Given the description of an element on the screen output the (x, y) to click on. 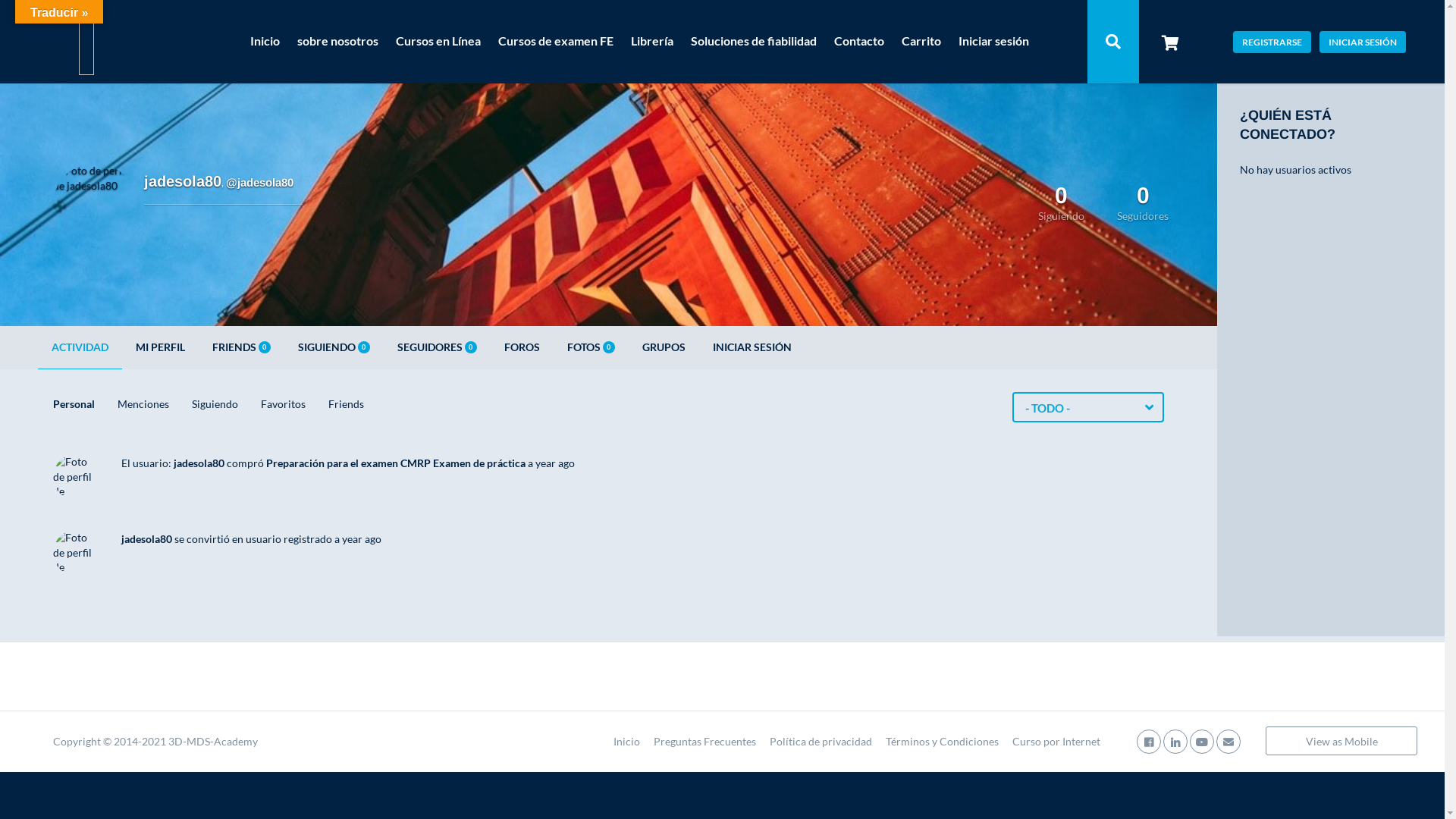
Contacto Element type: text (858, 41)
sobre nosotros Element type: text (337, 41)
SIGUIENDO 0 Element type: text (333, 347)
a year ago Element type: text (550, 462)
jadesola80 Element type: text (198, 462)
Curso por Internet Element type: text (1056, 740)
ACTIVIDAD Element type: text (79, 347)
FOROS Element type: text (521, 347)
FRIENDS 0 Element type: text (241, 347)
Inicio Element type: text (626, 740)
Cursos de examen FE Element type: text (555, 41)
Menciones Element type: text (143, 404)
Favoritos Element type: text (282, 404)
Youtube Element type: hover (1201, 740)
jadesola80 Element type: text (146, 538)
Siguiendo Element type: text (214, 404)
Soluciones de fiabilidad Element type: text (753, 41)
REGISTRARSE Element type: text (1272, 41)
Inicio Element type: text (264, 41)
Preguntas Frecuentes Element type: text (704, 740)
Personal Element type: text (73, 404)
MI PERFIL Element type: text (160, 347)
FOTOS 0 Element type: text (590, 347)
Carrito Element type: text (921, 41)
a year ago Element type: text (357, 538)
Facebook Element type: hover (1148, 740)
email Element type: hover (1228, 740)
Linkedin Element type: hover (1175, 740)
Friends Element type: text (346, 404)
Buscar Element type: hover (1113, 41)
View as Mobile Element type: text (1341, 740)
SEGUIDORES 0 Element type: text (436, 347)
GRUPOS Element type: text (663, 347)
